Given the description of an element on the screen output the (x, y) to click on. 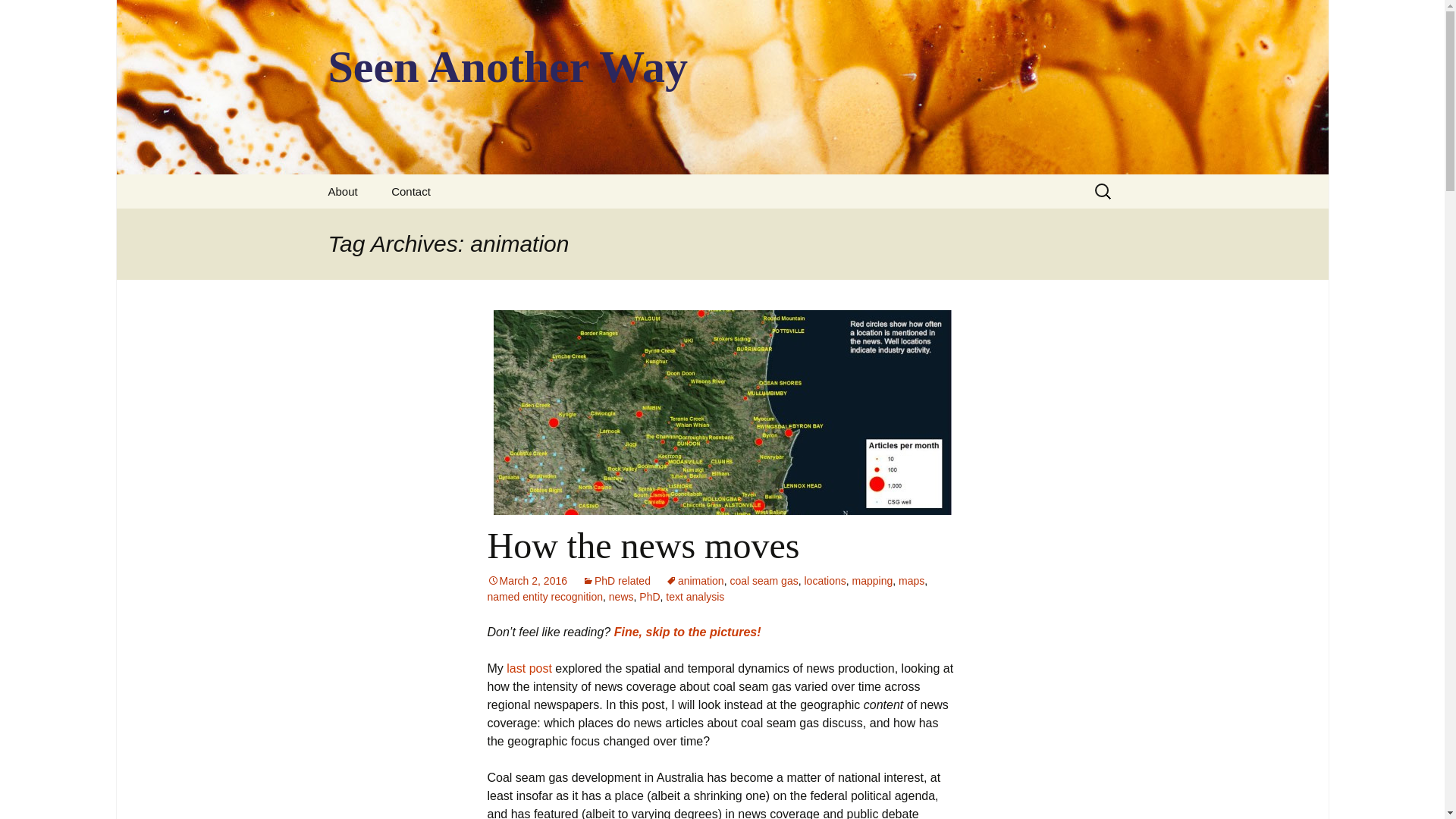
Fine, skip to the pictures! (687, 631)
news (620, 596)
named entity recognition (544, 596)
Contact (410, 191)
Permalink to How the news moves (526, 580)
PhD related (616, 580)
coal seam gas (763, 580)
How the news moves (642, 545)
About (342, 191)
animation (694, 580)
last post (528, 667)
Search (18, 15)
maps (911, 580)
